Given the description of an element on the screen output the (x, y) to click on. 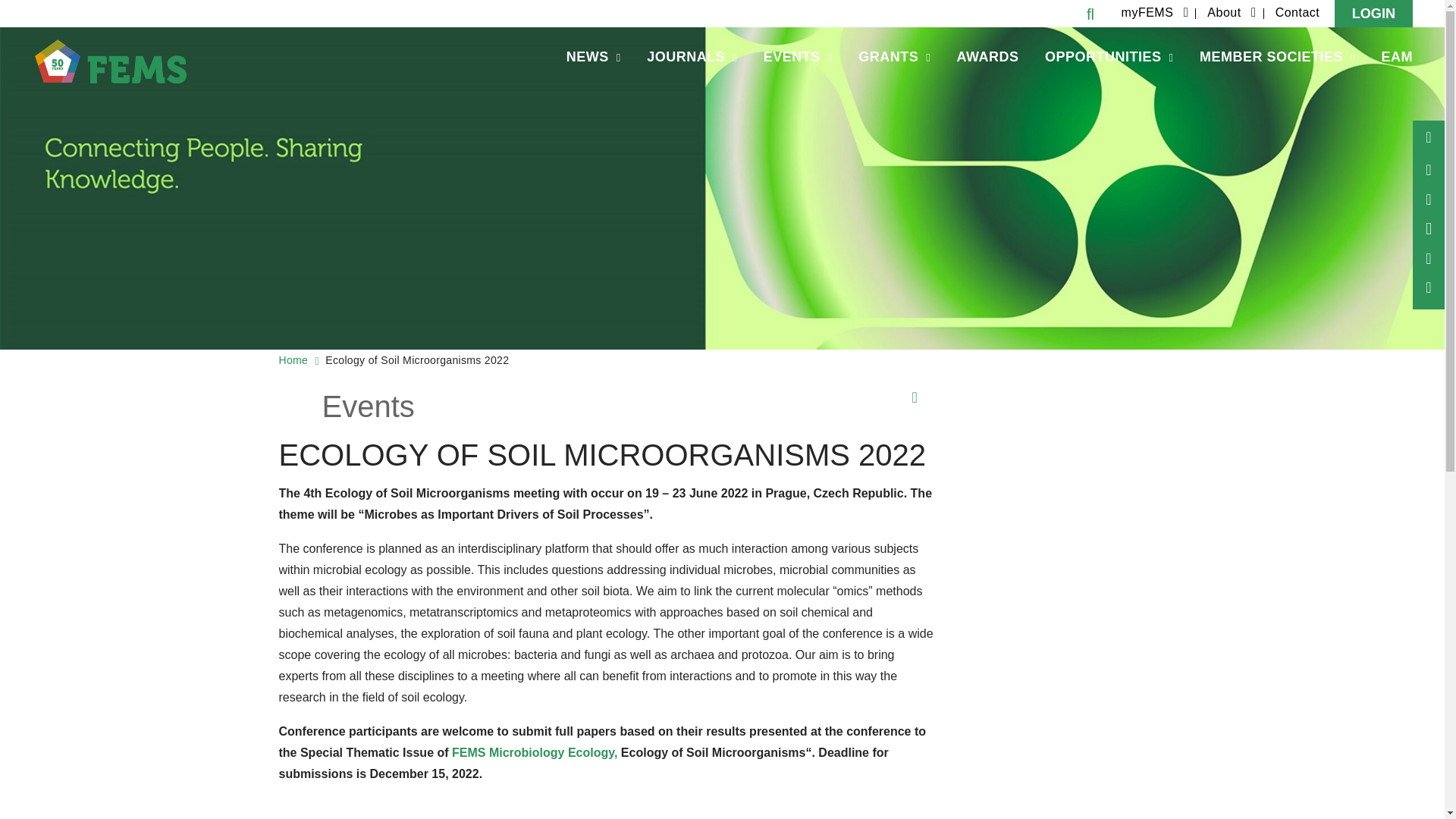
EVENTS (798, 56)
NEWS (592, 56)
AWARDS (987, 56)
GRANTS (894, 56)
JOURNALS (691, 56)
OPPORTUNITIES (1109, 56)
